Given the description of an element on the screen output the (x, y) to click on. 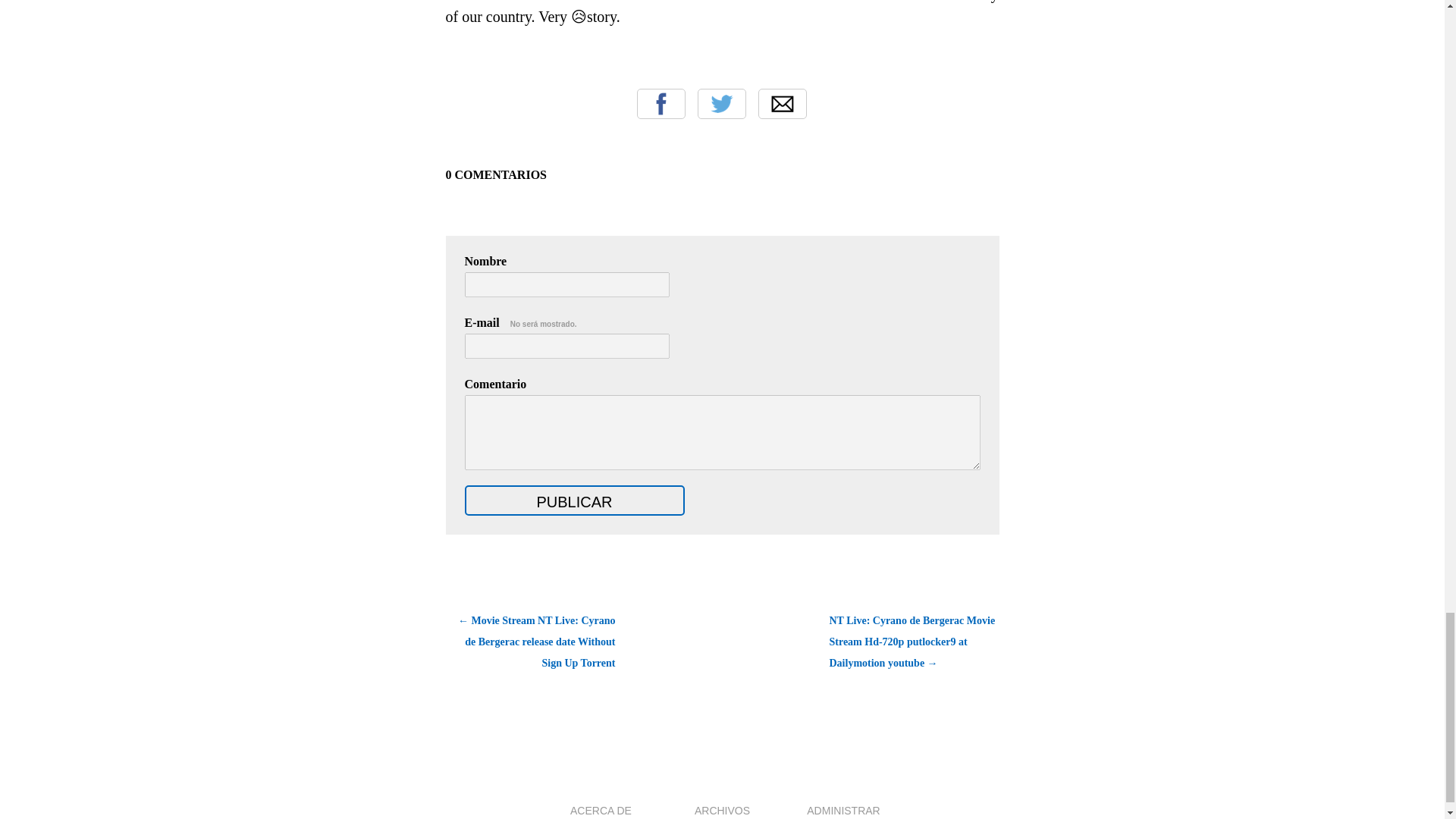
Facebook (661, 103)
Compartir en Facebook (661, 103)
Publicar (574, 500)
Compartir en Twitter (721, 103)
ACERCA DE (600, 810)
Twitter (721, 103)
ARCHIVOS (721, 810)
Publicar (574, 500)
ADMINISTRAR (842, 810)
Compartir por email (782, 103)
